Given the description of an element on the screen output the (x, y) to click on. 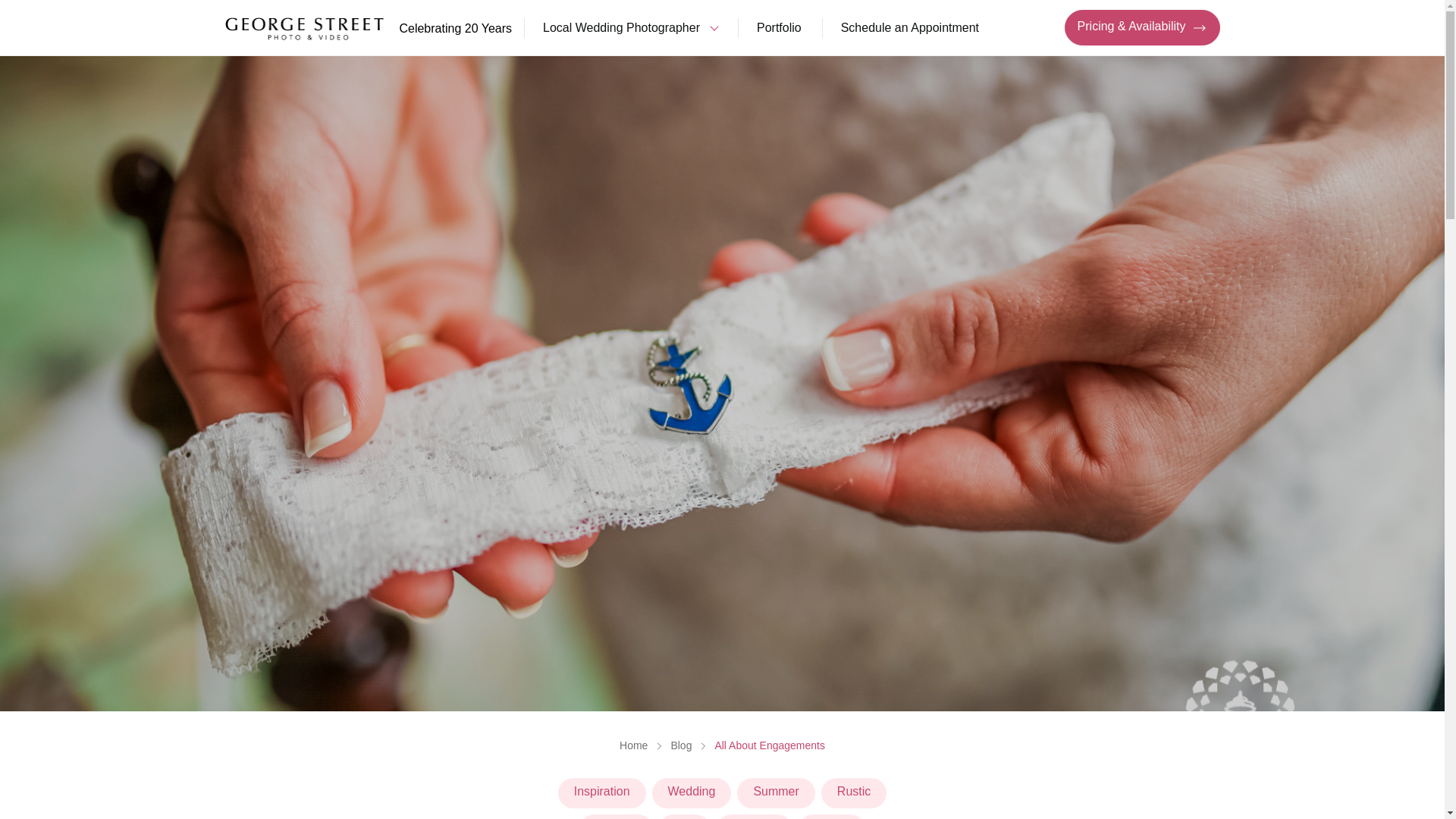
Home (633, 745)
Schedule an Appointment (909, 27)
Blog (680, 745)
Portfolio (778, 27)
Celebrating 20 Years (368, 27)
Local Wedding Photographer (629, 27)
